Given the description of an element on the screen output the (x, y) to click on. 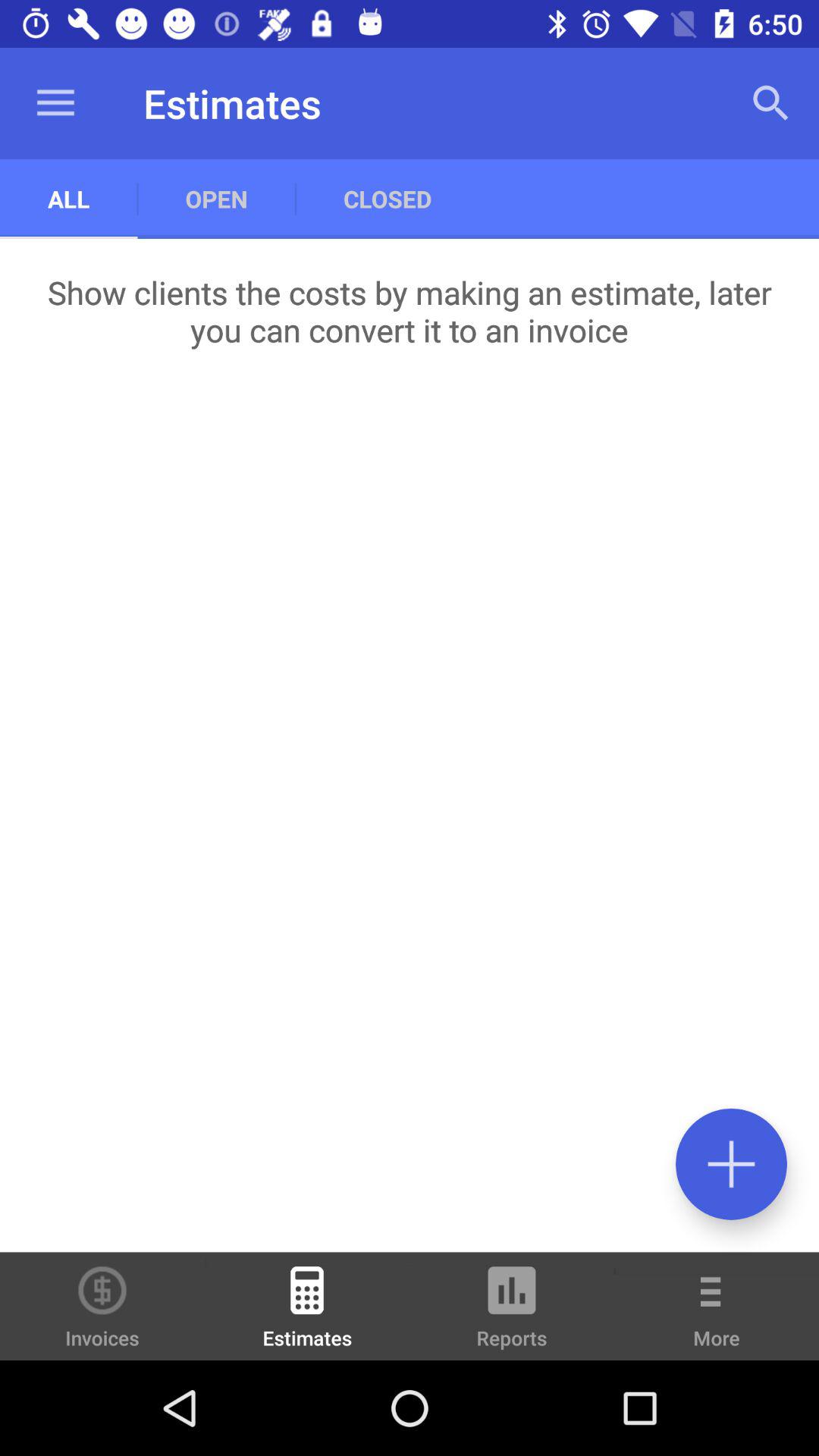
click the closed icon (387, 198)
